Given the description of an element on the screen output the (x, y) to click on. 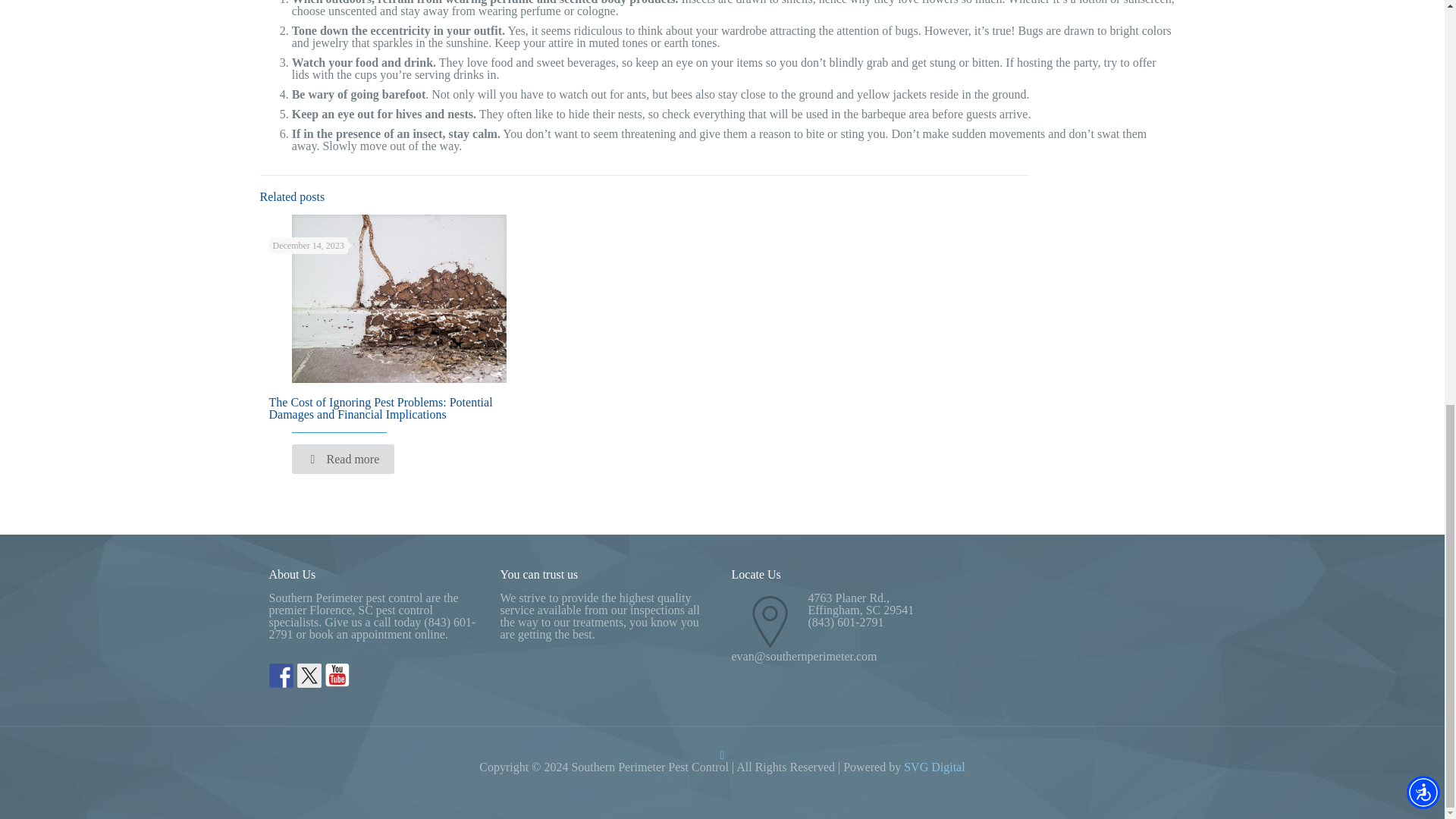
Find us on YouTube (336, 675)
Accessibility Menu (1422, 4)
Follow us on Twitter (309, 675)
Read more (342, 459)
SVG Digital (933, 766)
Follow us on Facebook (279, 675)
